Given the description of an element on the screen output the (x, y) to click on. 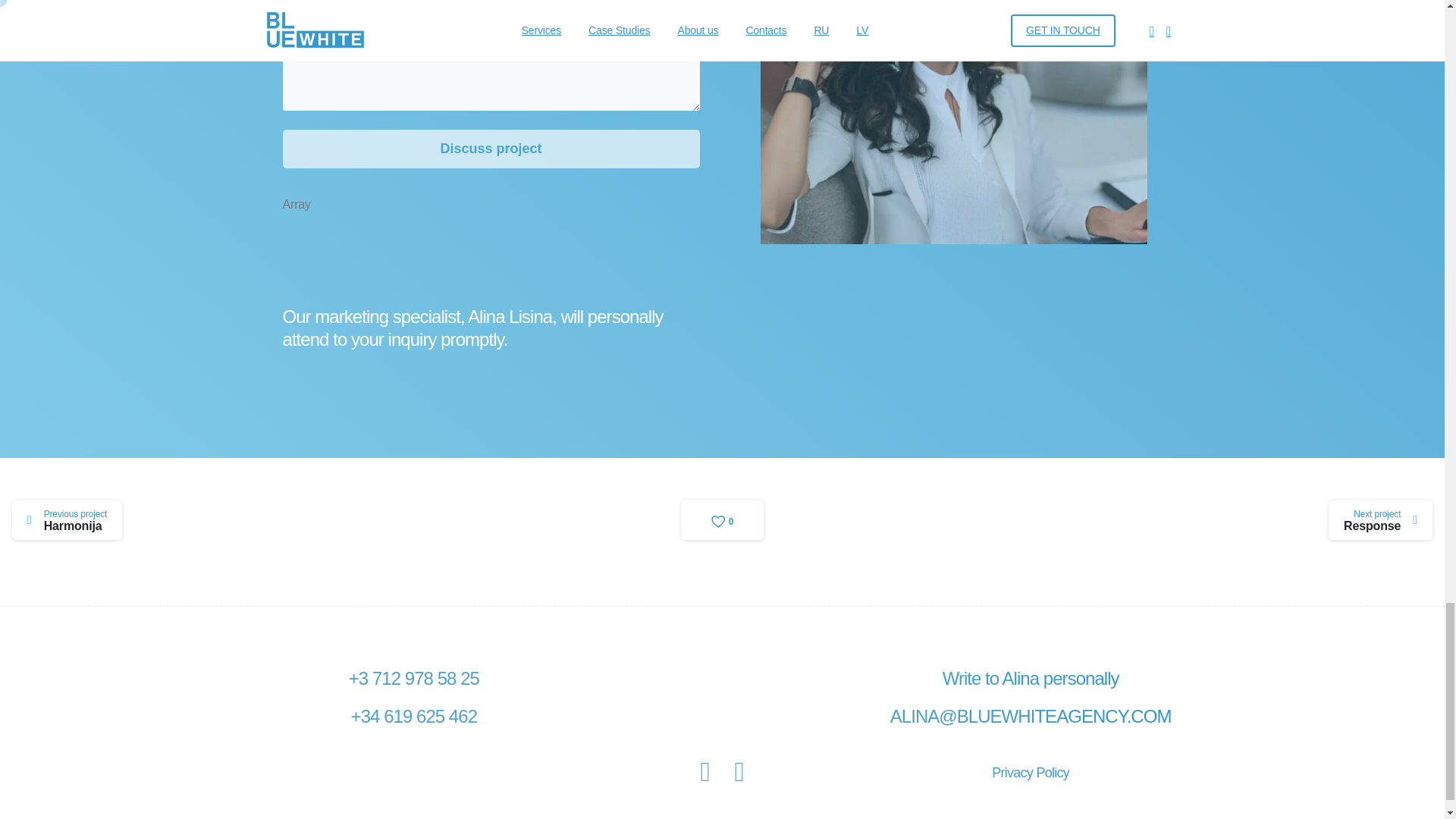
Like this (722, 519)
Discuss project (490, 148)
0 (722, 519)
reCAPTCHA (397, 252)
Privacy Policy (1029, 772)
Discuss project (66, 519)
